Given the description of an element on the screen output the (x, y) to click on. 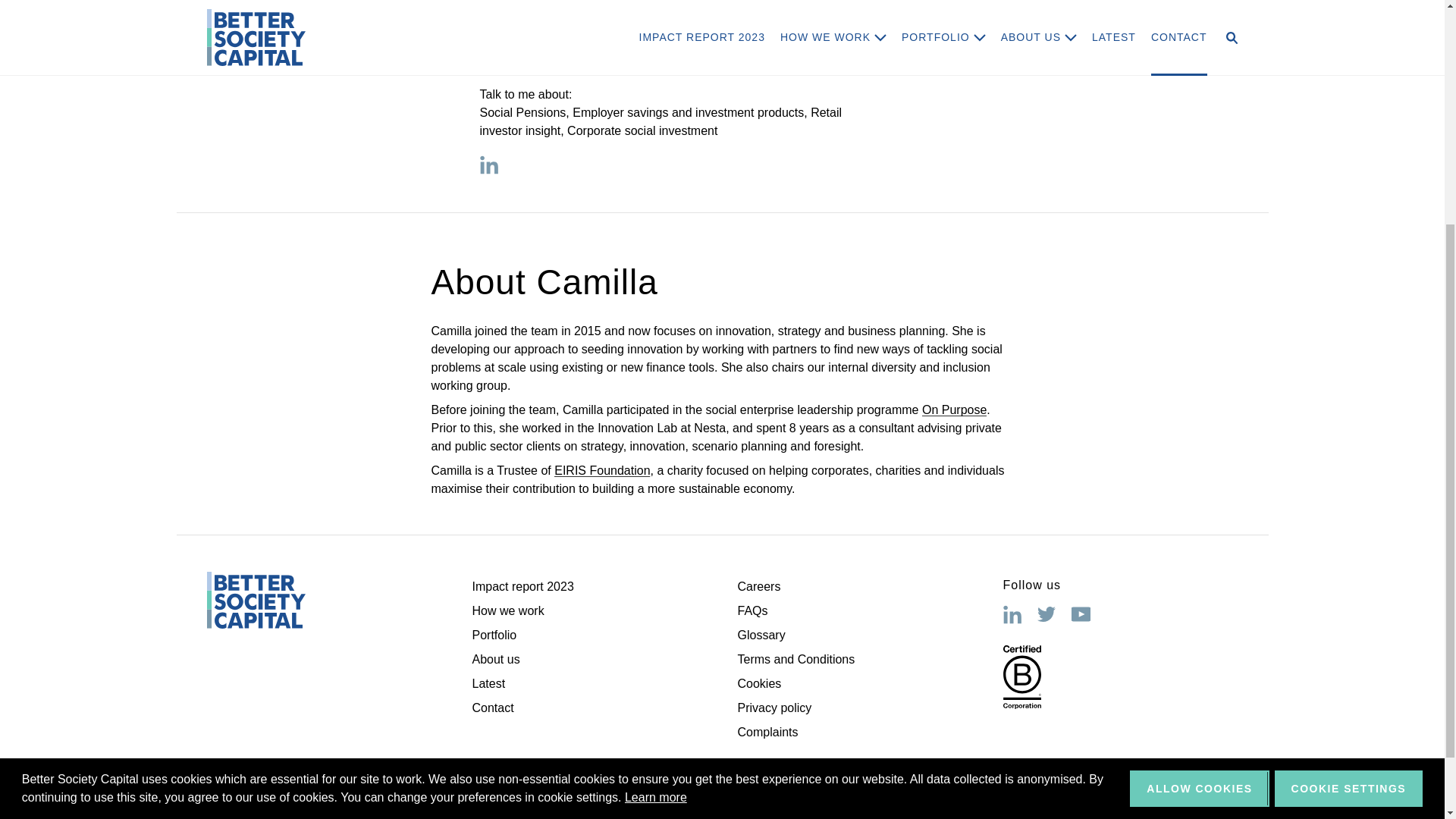
Learn more (655, 470)
COOKIE SETTINGS (1349, 461)
ALLOW COOKIES (1198, 461)
